Given the description of an element on the screen output the (x, y) to click on. 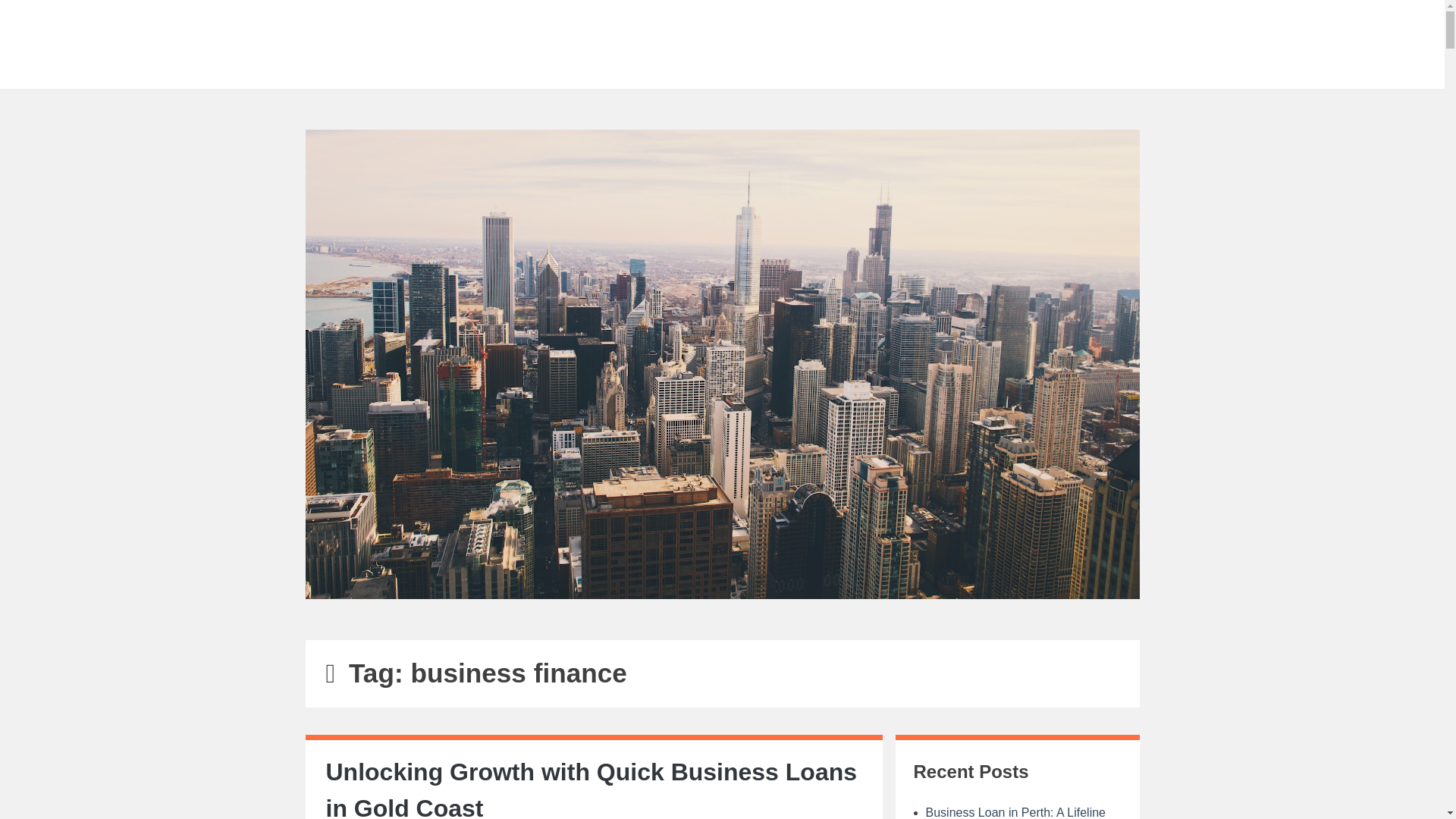
Explore Pokolbin (722, 40)
Unlocking Growth with Quick Business Loans in Gold Coast (591, 788)
